Given the description of an element on the screen output the (x, y) to click on. 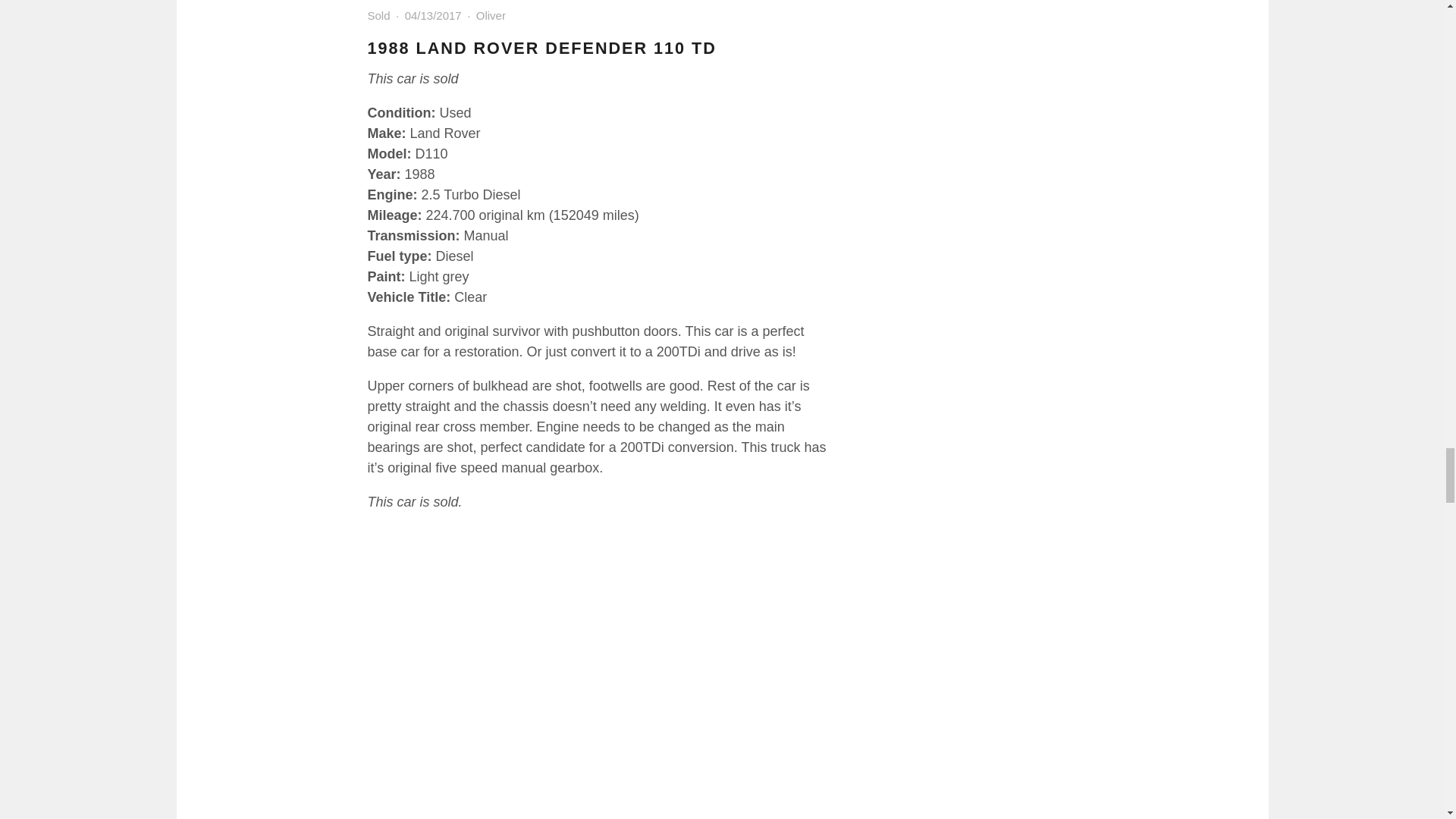
Oliver (490, 15)
1988 LAND ROVER DEFENDER 110 TD (541, 47)
Sold (378, 15)
